Given the description of an element on the screen output the (x, y) to click on. 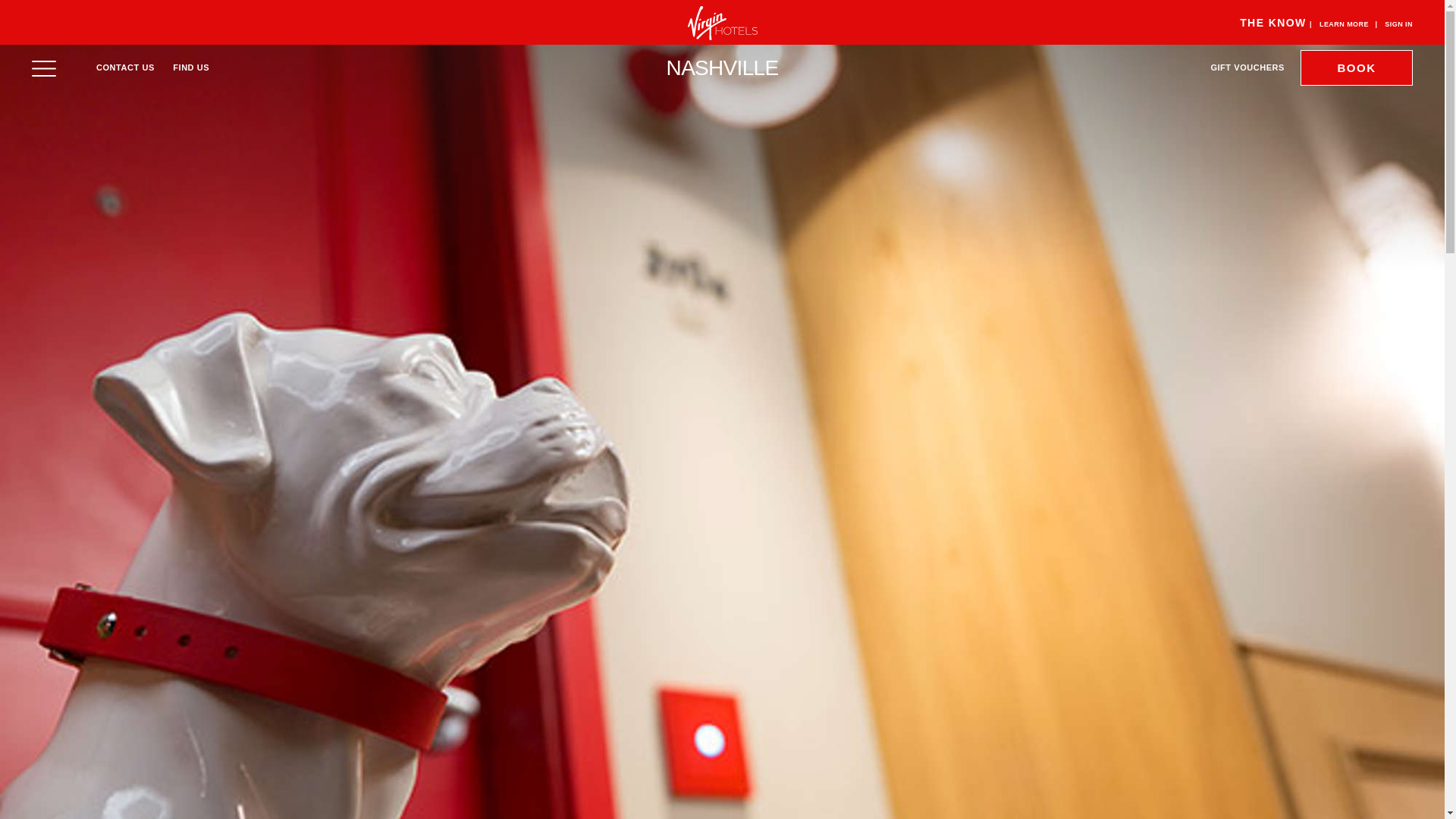
CONTACT US (125, 67)
SIGN IN (1398, 23)
NASHVILLE (722, 67)
FIND US (191, 67)
GIFT VOUCHERS (1246, 67)
LEARN MORE (1343, 23)
